Given the description of an element on the screen output the (x, y) to click on. 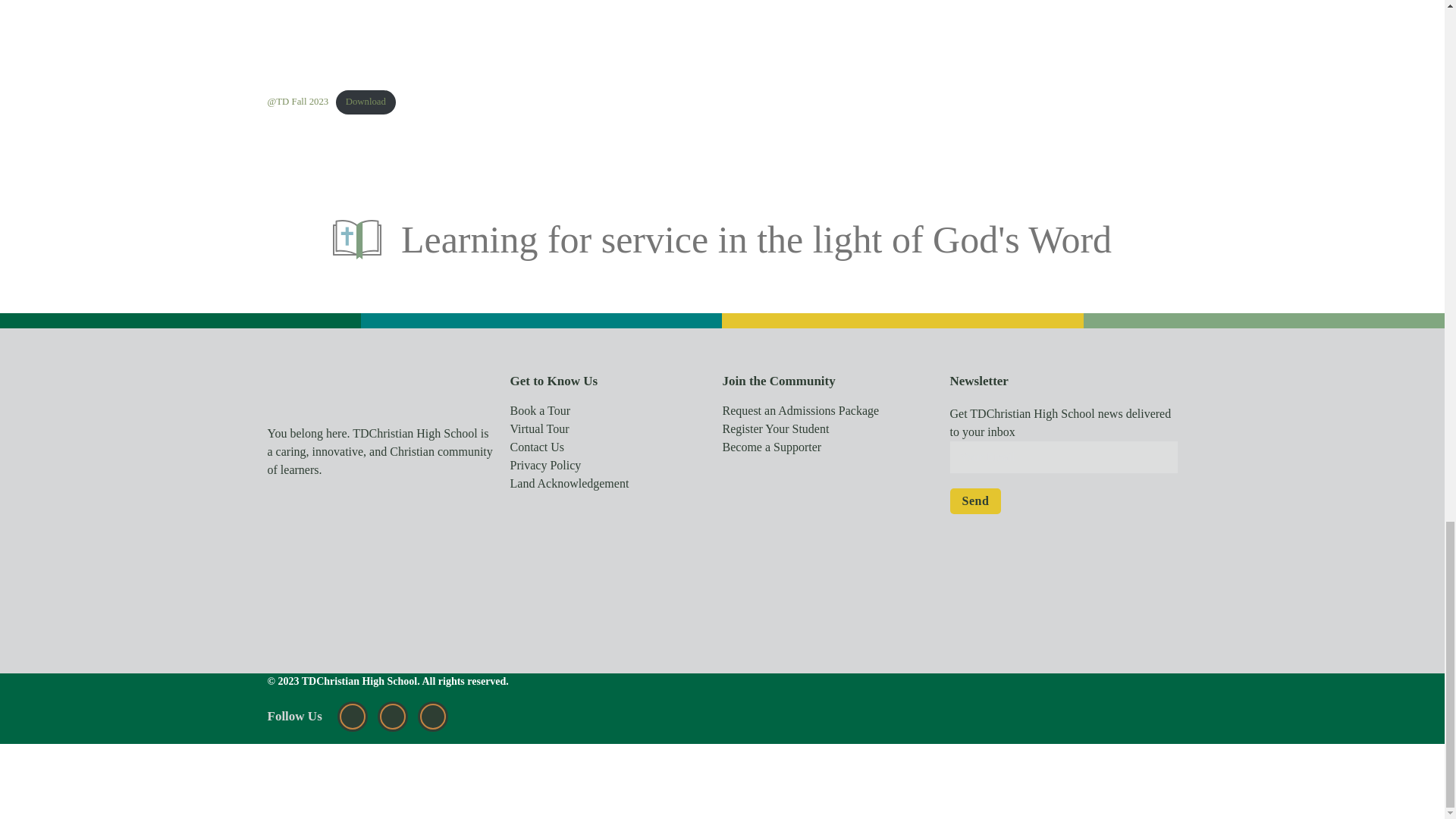
Subscribe to our YouTube channel (432, 716)
Like us on Facebook (393, 716)
Follow Us on Instagram (352, 716)
